Given the description of an element on the screen output the (x, y) to click on. 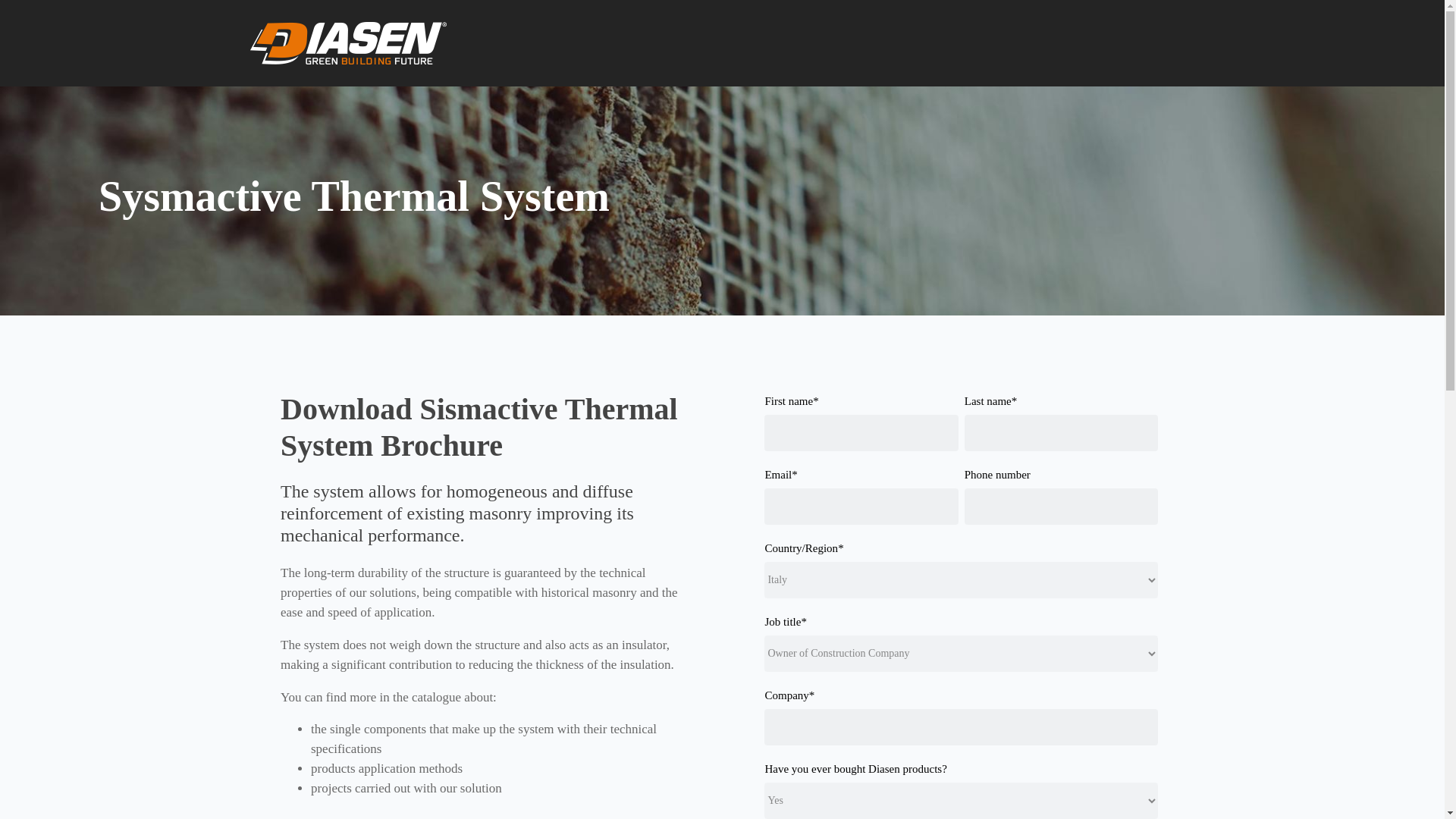
Diasen (348, 43)
